Given the description of an element on the screen output the (x, y) to click on. 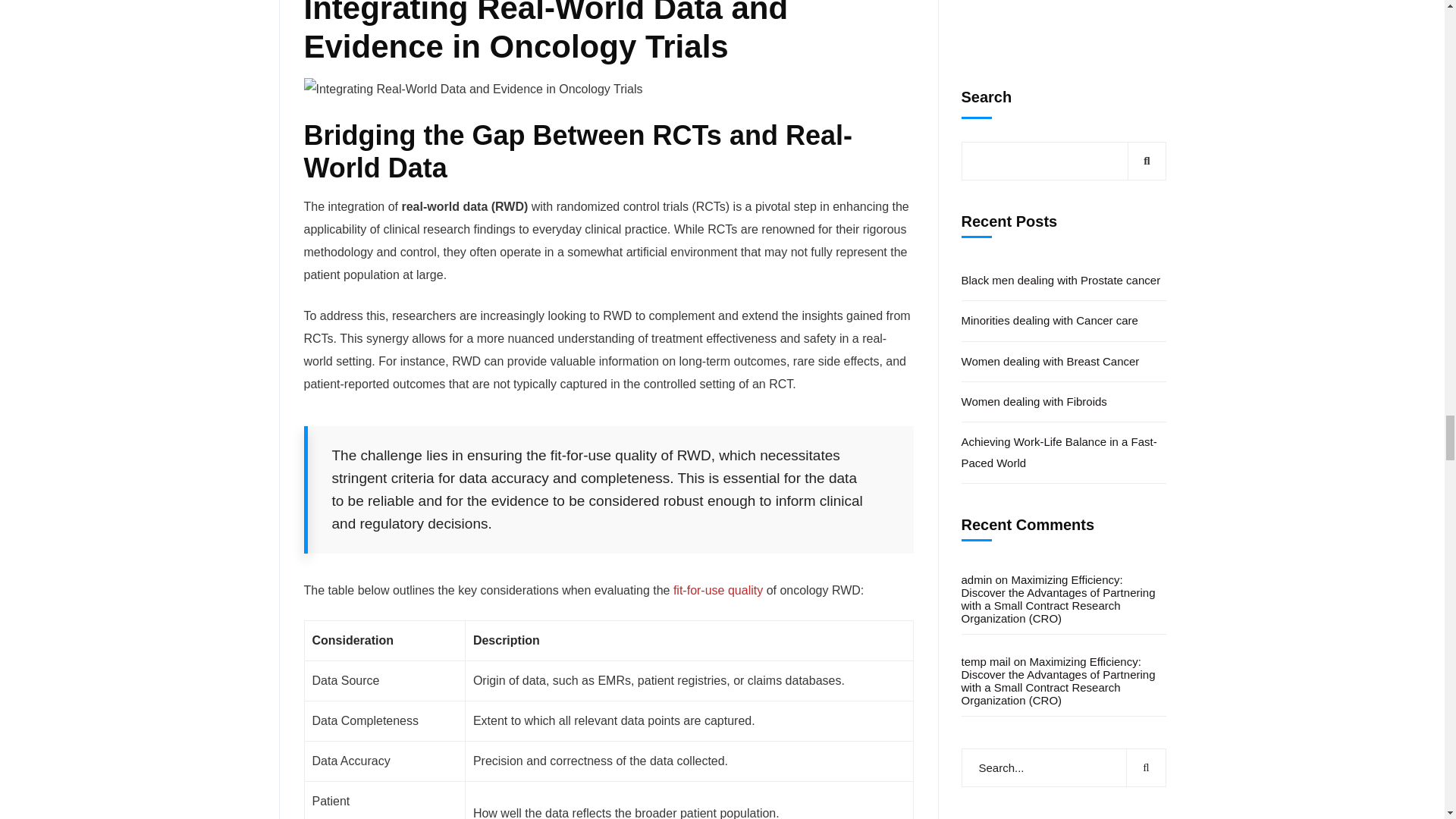
fit-for-use quality (717, 590)
